Given the description of an element on the screen output the (x, y) to click on. 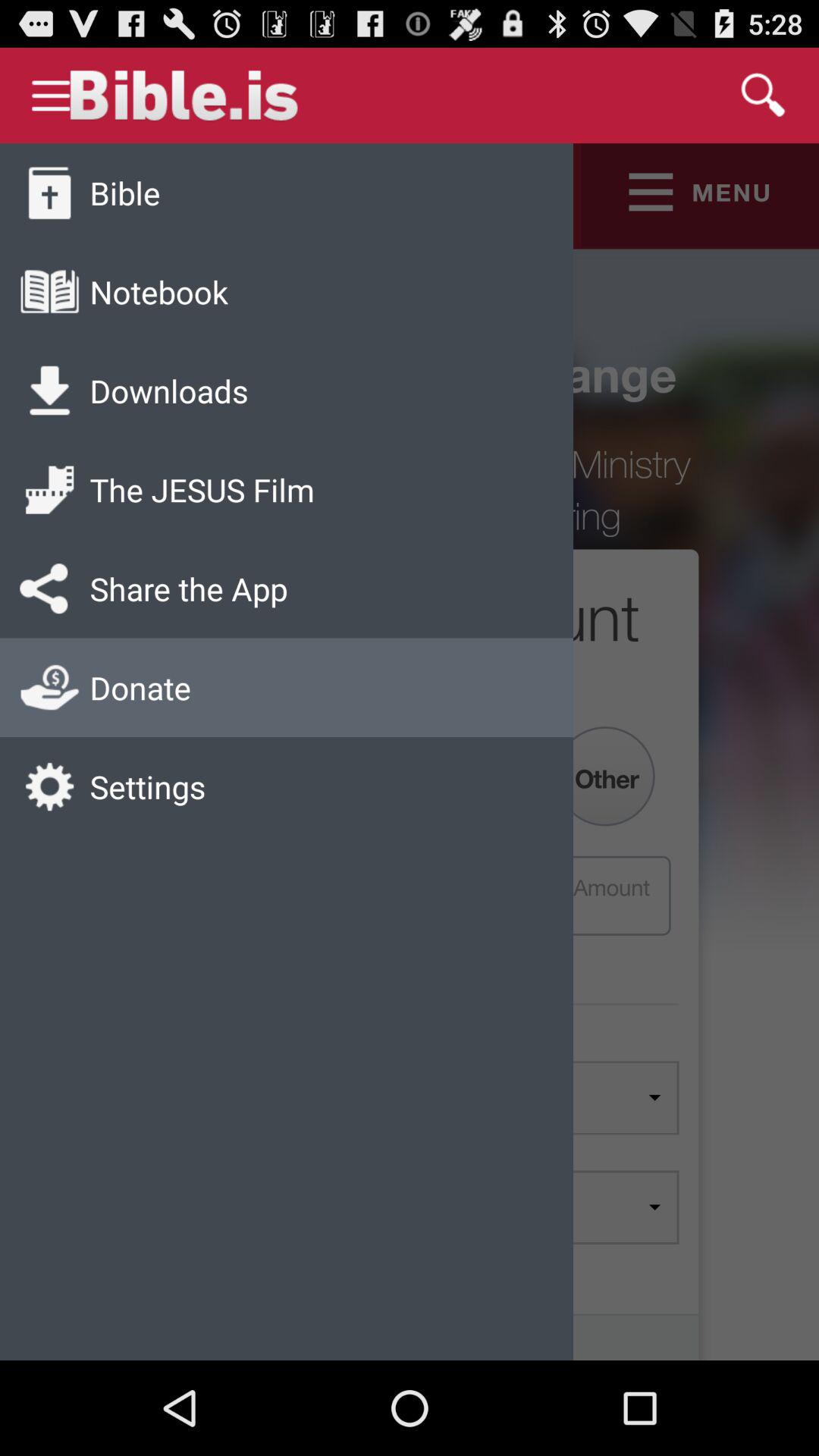
press the app below the notebook (168, 390)
